Given the description of an element on the screen output the (x, y) to click on. 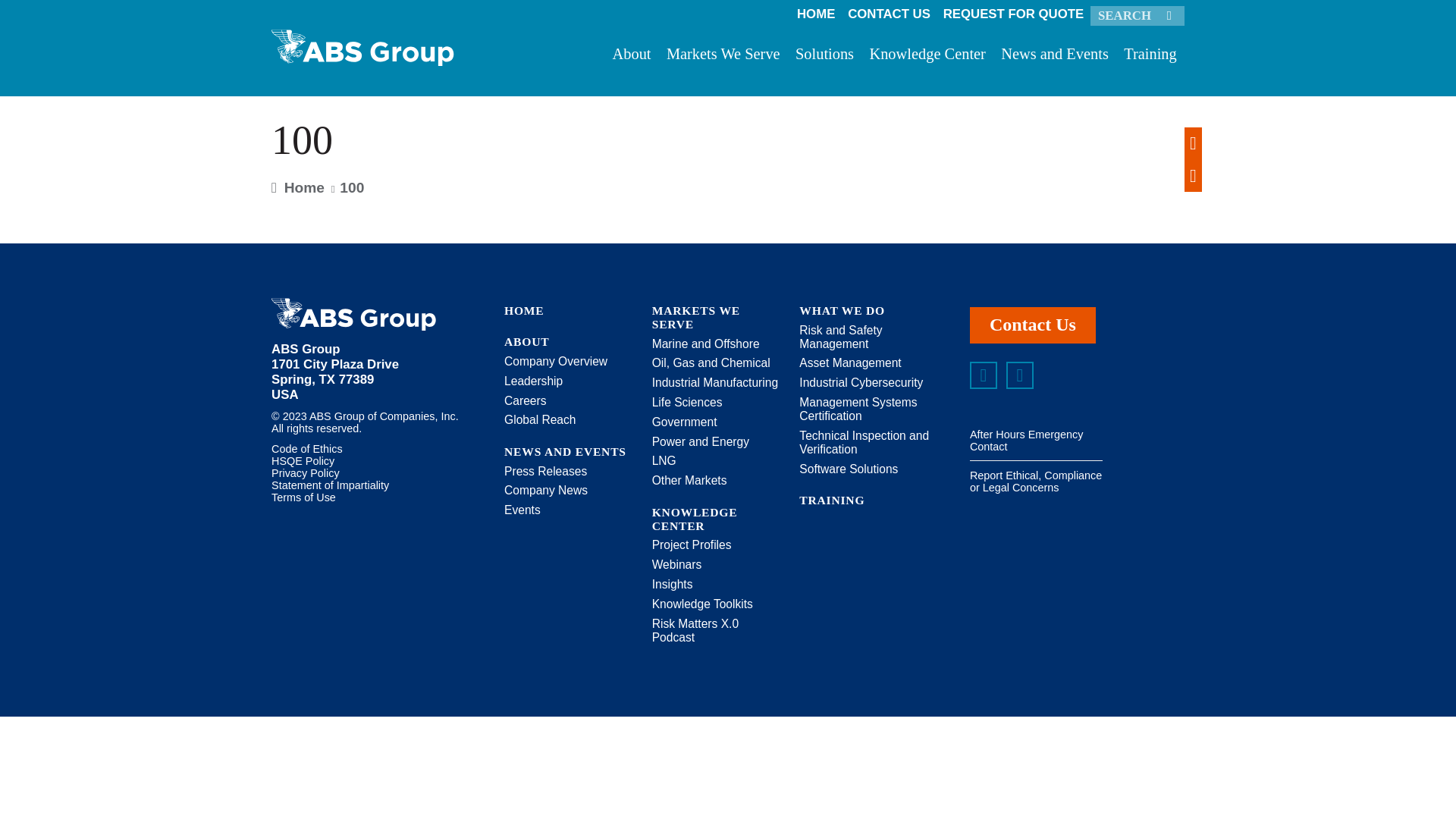
Twitter (1019, 375)
Markets We Serve (723, 57)
Solutions (824, 57)
About (631, 57)
REQUEST FOR QUOTE (1012, 14)
Linkedin (983, 375)
HOME (815, 14)
CONTACT US (889, 14)
